Given the description of an element on the screen output the (x, y) to click on. 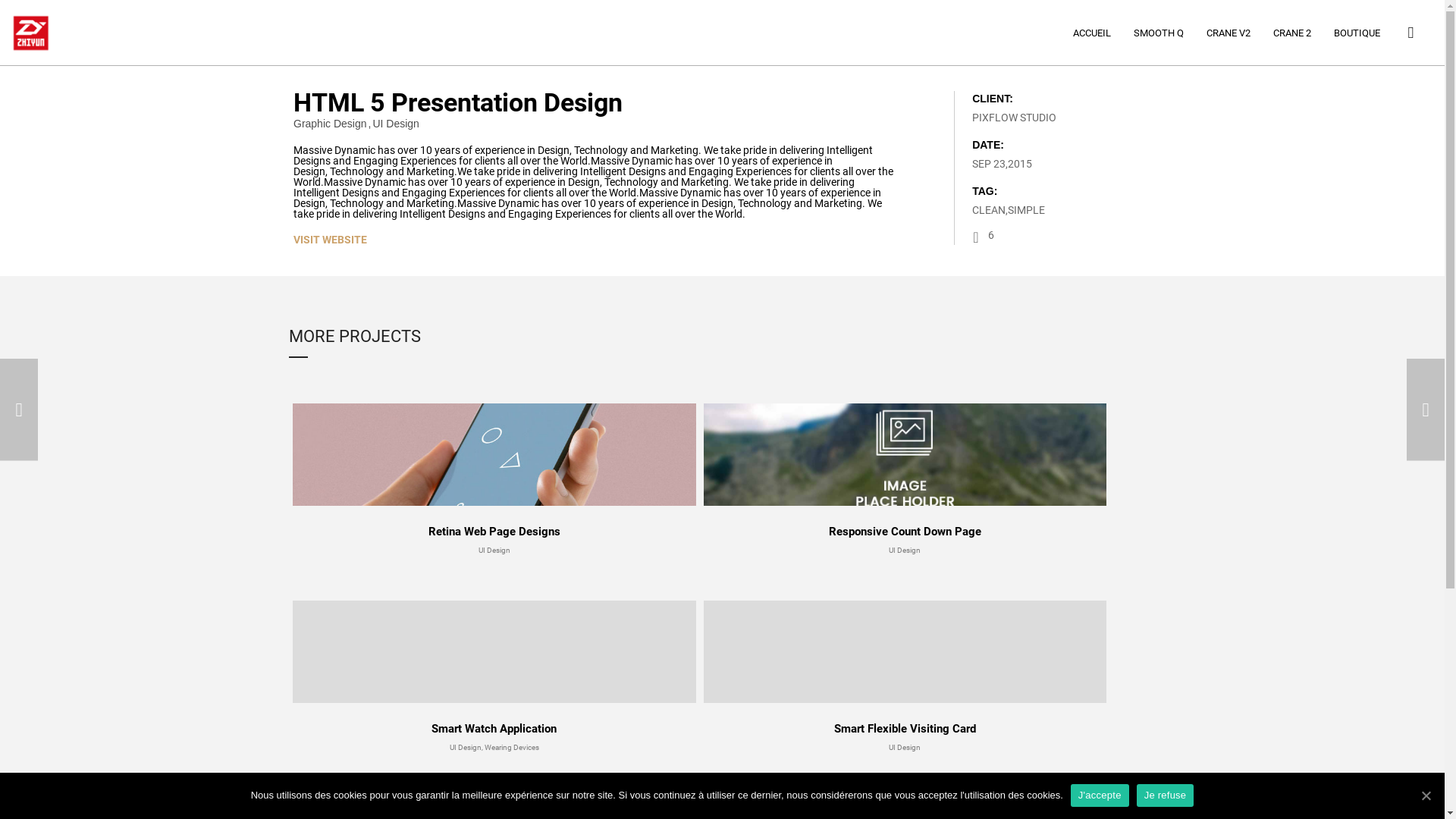
ACCUEIL Element type: text (1091, 32)
BOUTIQUE Element type: text (1356, 32)
Retina Web Page Designs
UI Design Element type: text (494, 479)
CRANE 2 Element type: text (1291, 32)
J'accepte Element type: text (1099, 795)
VISIT WEBSITE Element type: text (330, 239)
Responsive Count Down Page
UI Design Element type: text (905, 479)
6 Element type: text (983, 236)
Je refuse Element type: text (1165, 795)
CRANE V2 Element type: text (1228, 32)
Smart Flexible Visiting Card
UI Design Element type: text (905, 676)
SMOOTH Q Element type: text (1158, 32)
Smart Watch Application
UI Design, Wearing Devices Element type: text (494, 676)
